Given the description of an element on the screen output the (x, y) to click on. 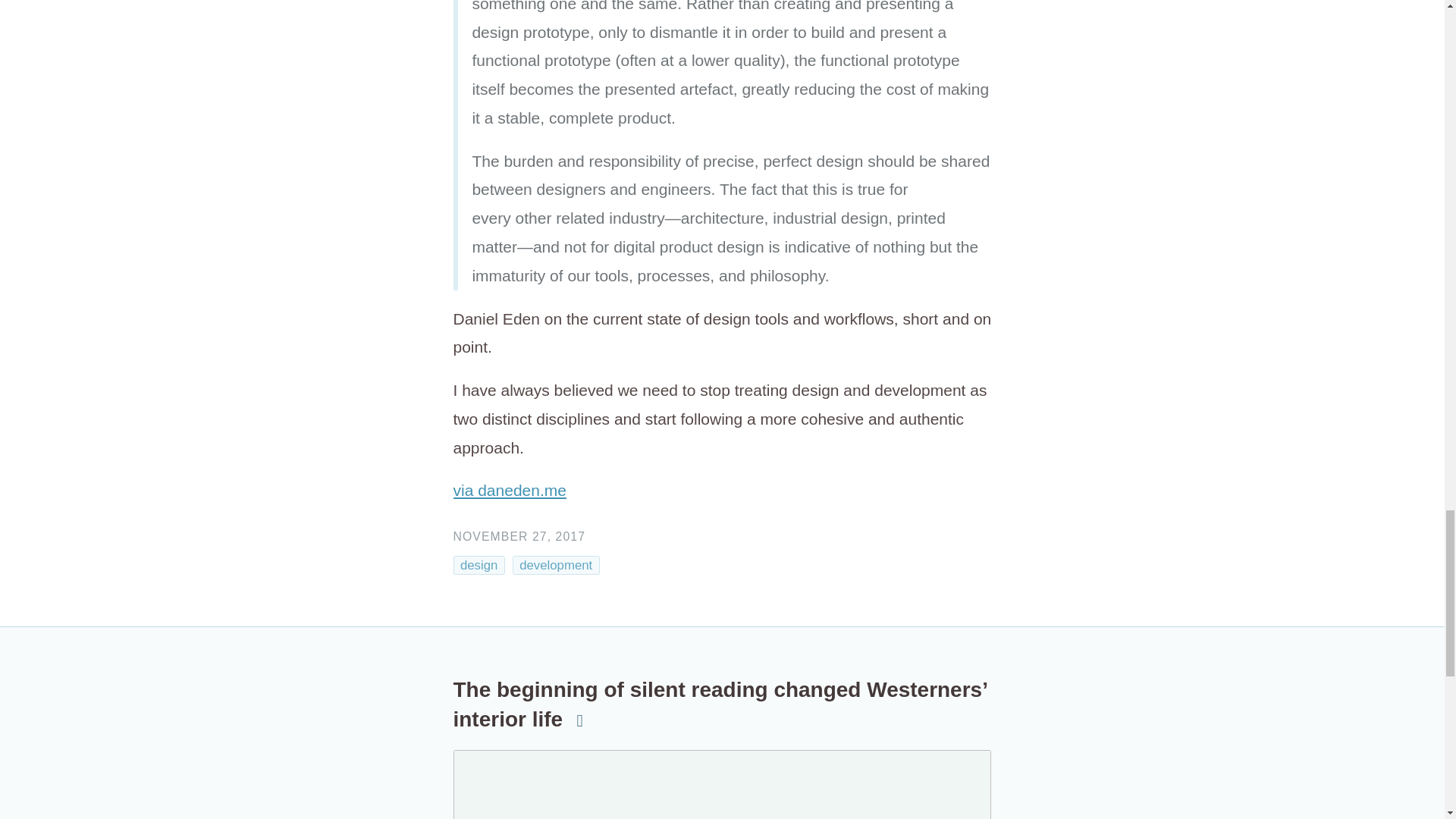
via daneden.me (509, 489)
development (555, 565)
design (478, 565)
NOVEMBER 27, 2017 (519, 535)
